Given the description of an element on the screen output the (x, y) to click on. 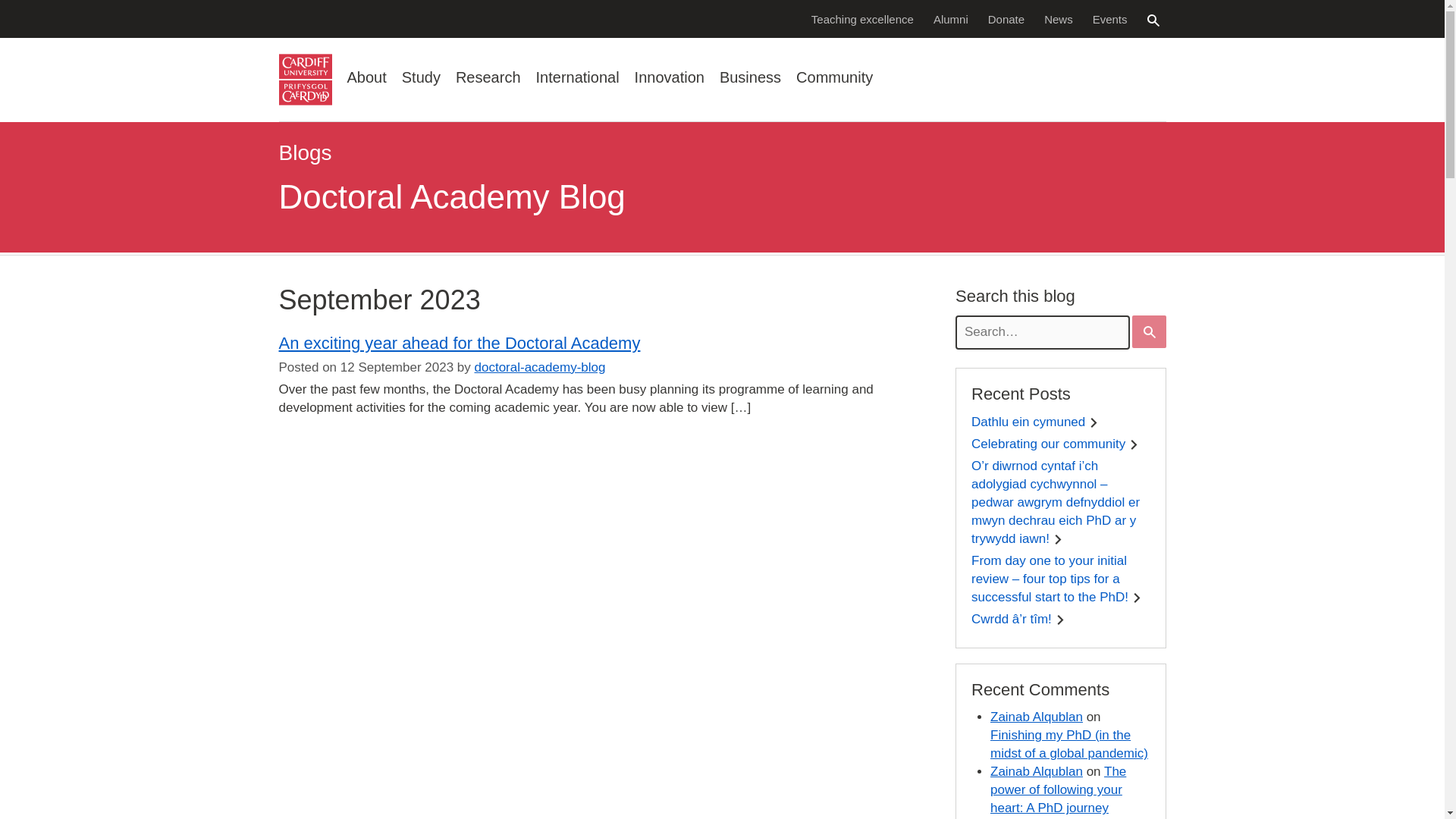
Cardiff University logo (305, 79)
Chevron right (1060, 619)
Chevron right (1057, 539)
Events (1109, 19)
Search (1149, 331)
Chevron right (1094, 422)
Search query (1042, 332)
Chevron right (1133, 444)
News (1058, 19)
Cardiff University logo (305, 79)
Chevron right (1136, 597)
Teaching excellence (862, 19)
Donate (1005, 19)
Search (1152, 20)
Alumni (951, 19)
